Given the description of an element on the screen output the (x, y) to click on. 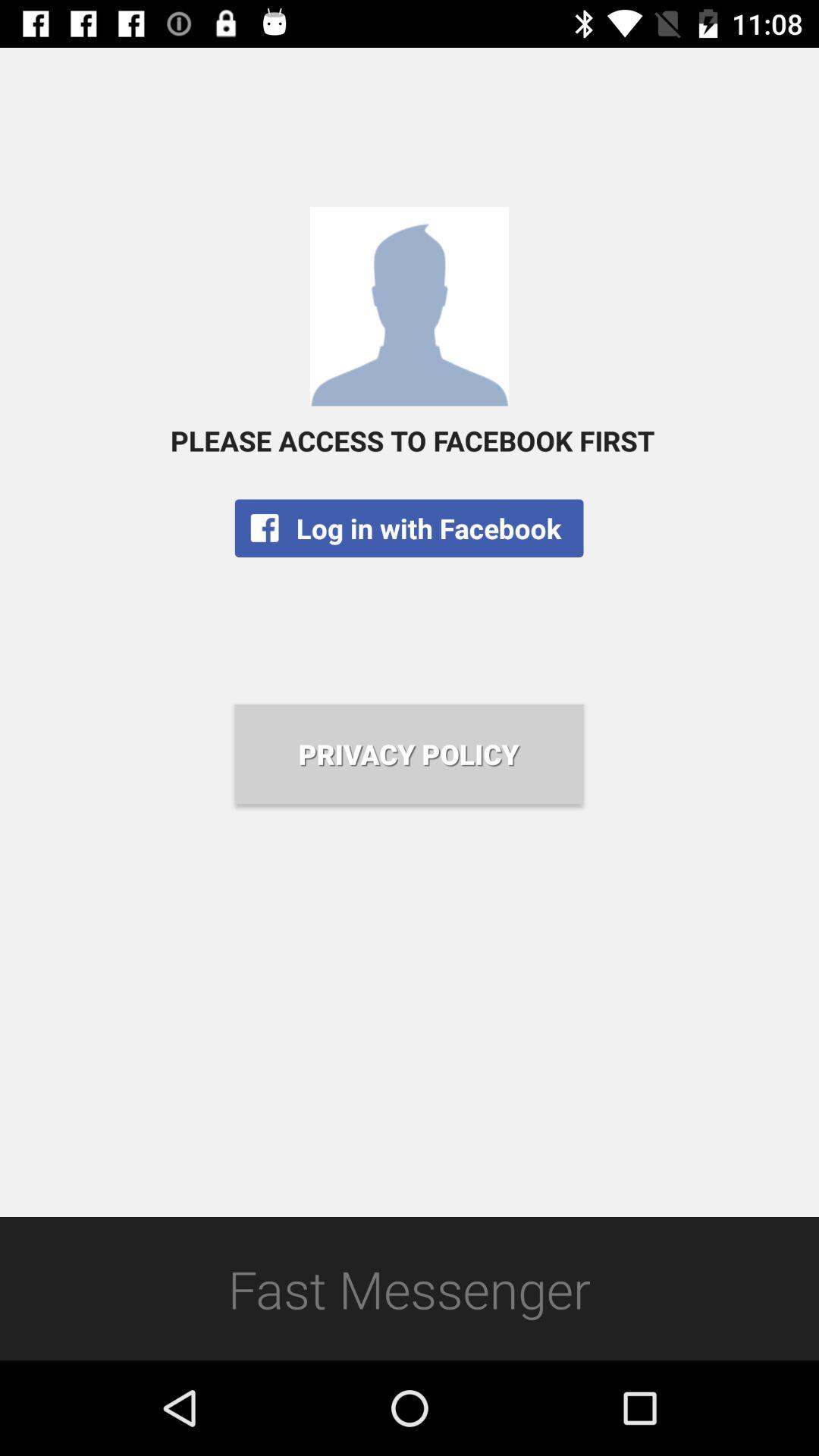
turn on fast messenger app (409, 1288)
